Given the description of an element on the screen output the (x, y) to click on. 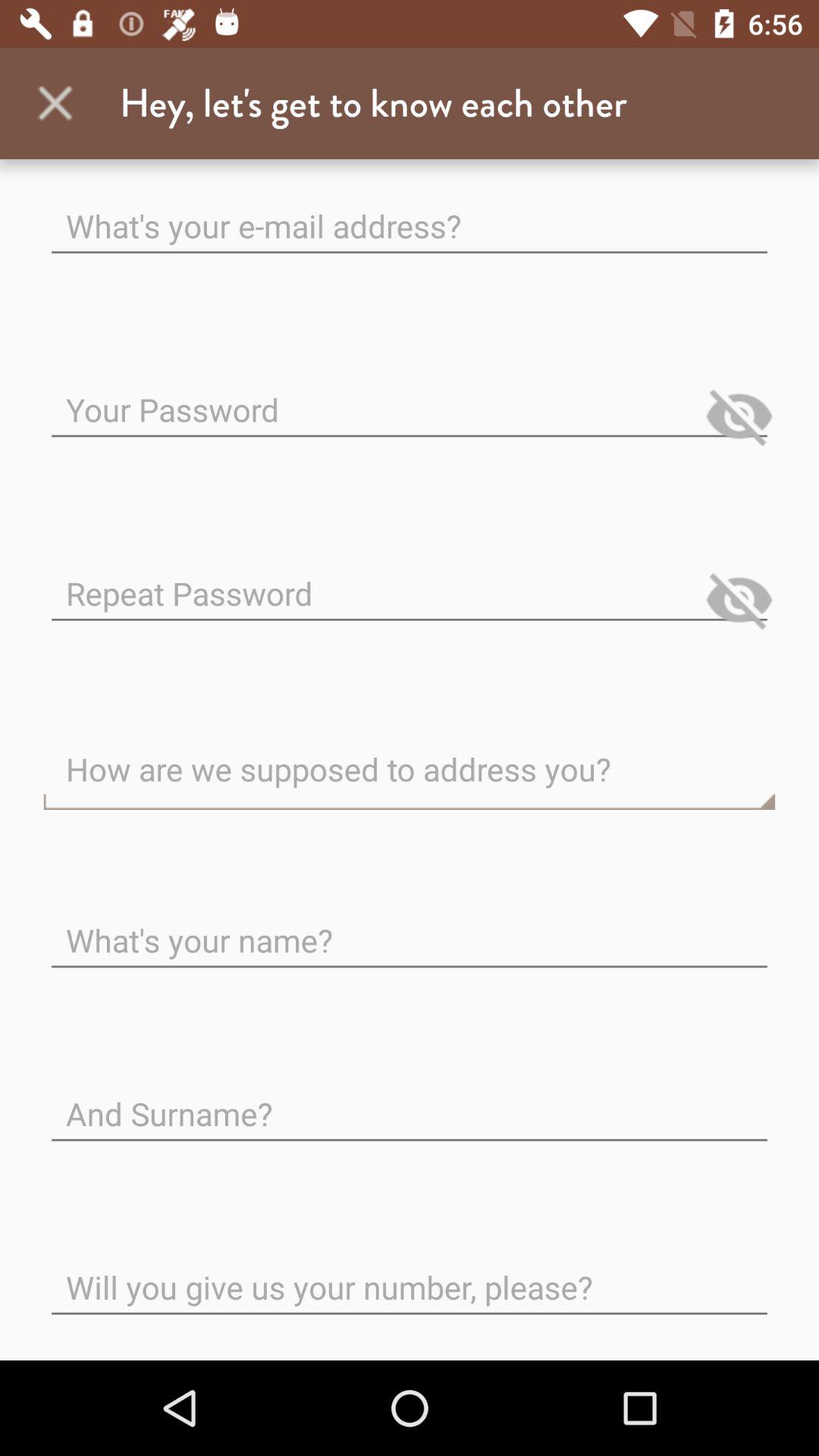
enter e-mail address (409, 214)
